Given the description of an element on the screen output the (x, y) to click on. 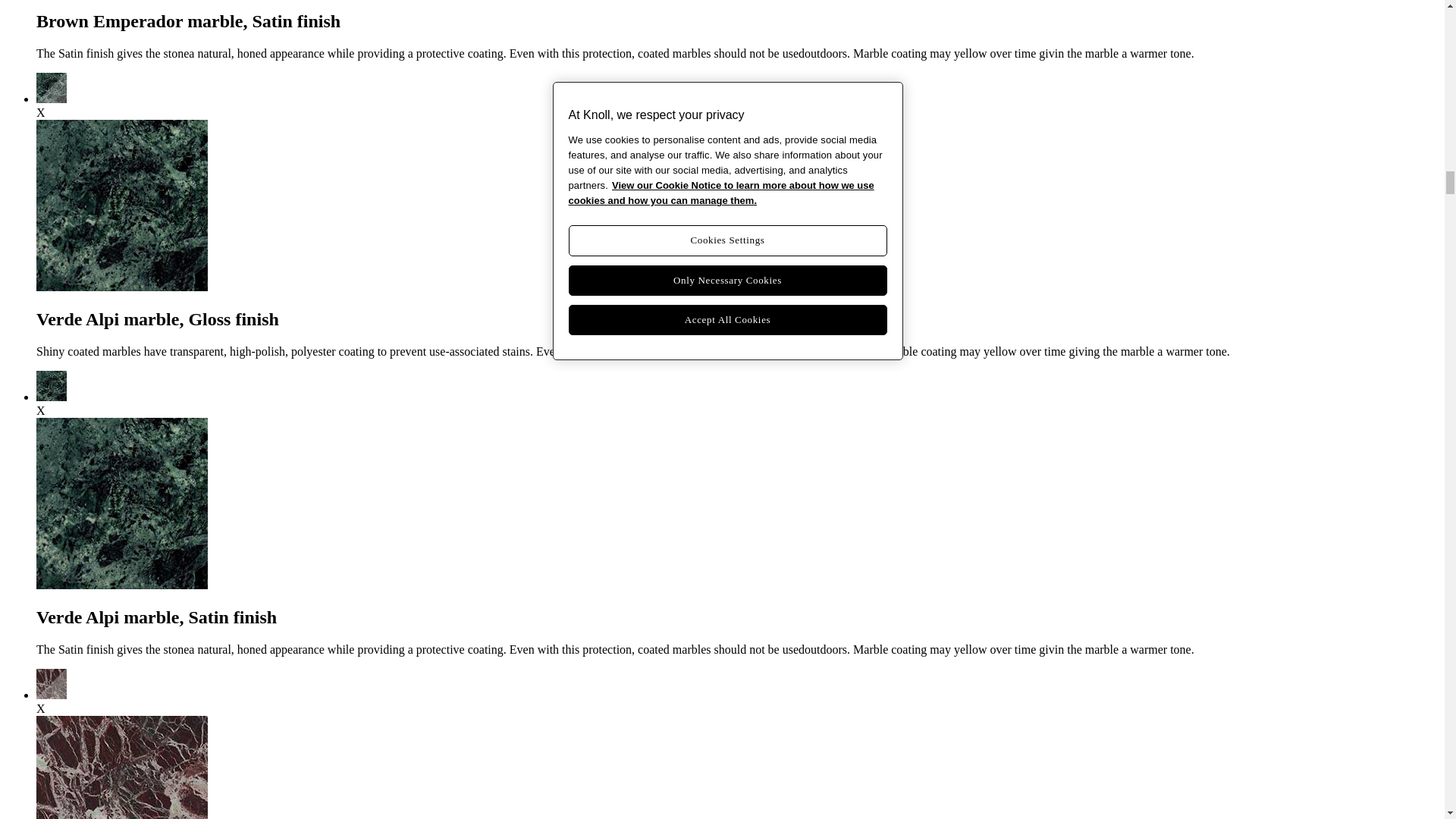
Verde Alpi marble, Satin finish (51, 396)
Verde Alpi marble, Gloss finish (51, 98)
Rosso Rubino marble, Gloss finish (51, 694)
